Given the description of an element on the screen output the (x, y) to click on. 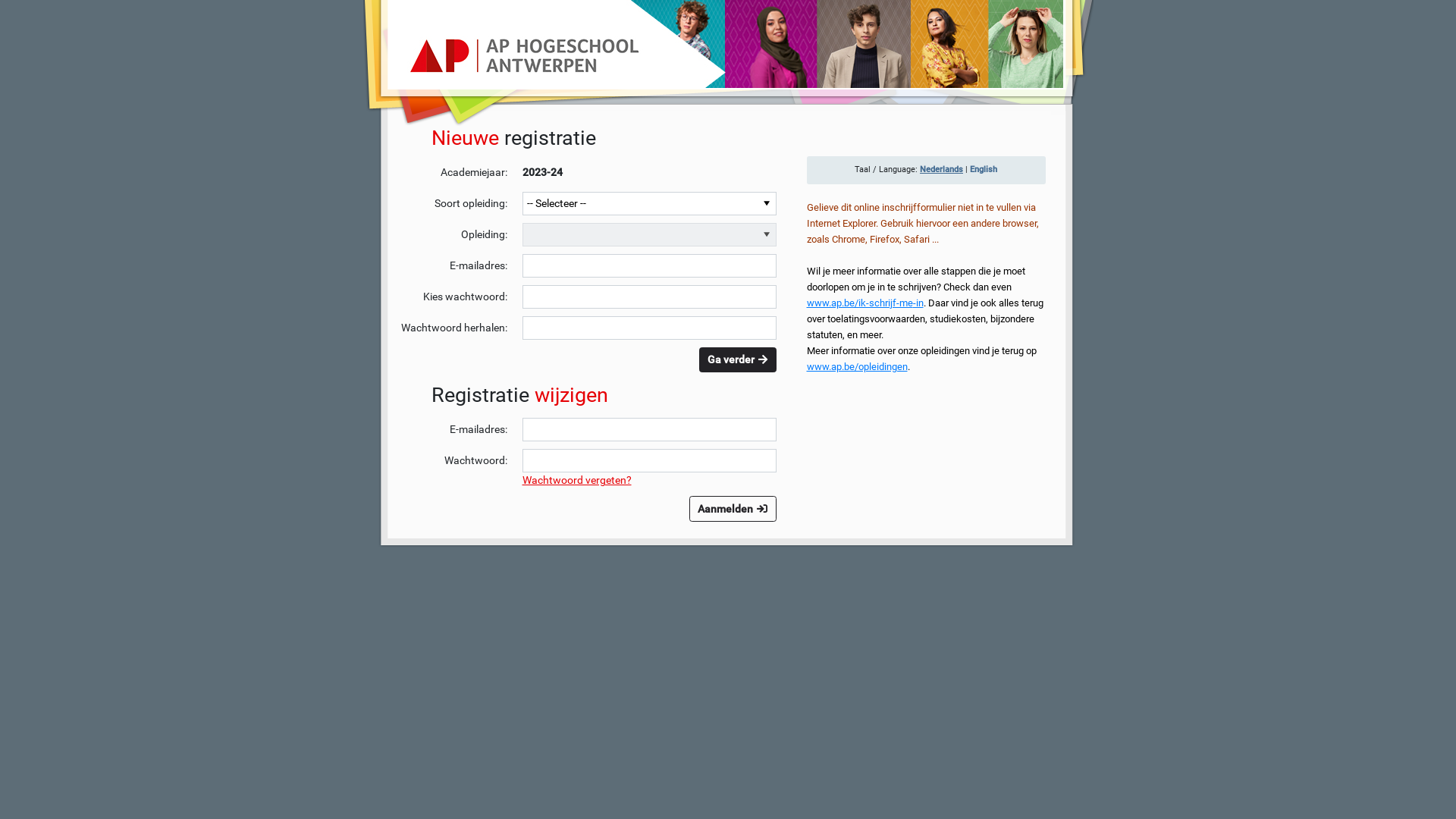
Ga verder Element type: text (737, 360)
English Element type: text (983, 169)
Nederlands Element type: text (941, 169)
Aanmelden Element type: text (731, 508)
Wachtwoord vergeten? Element type: text (575, 479)
-in Element type: text (918, 301)
www.ap.be/opleidingen Element type: text (856, 365)
www.ap.be/ik-schrijf-me Element type: text (859, 302)
